Given the description of an element on the screen output the (x, y) to click on. 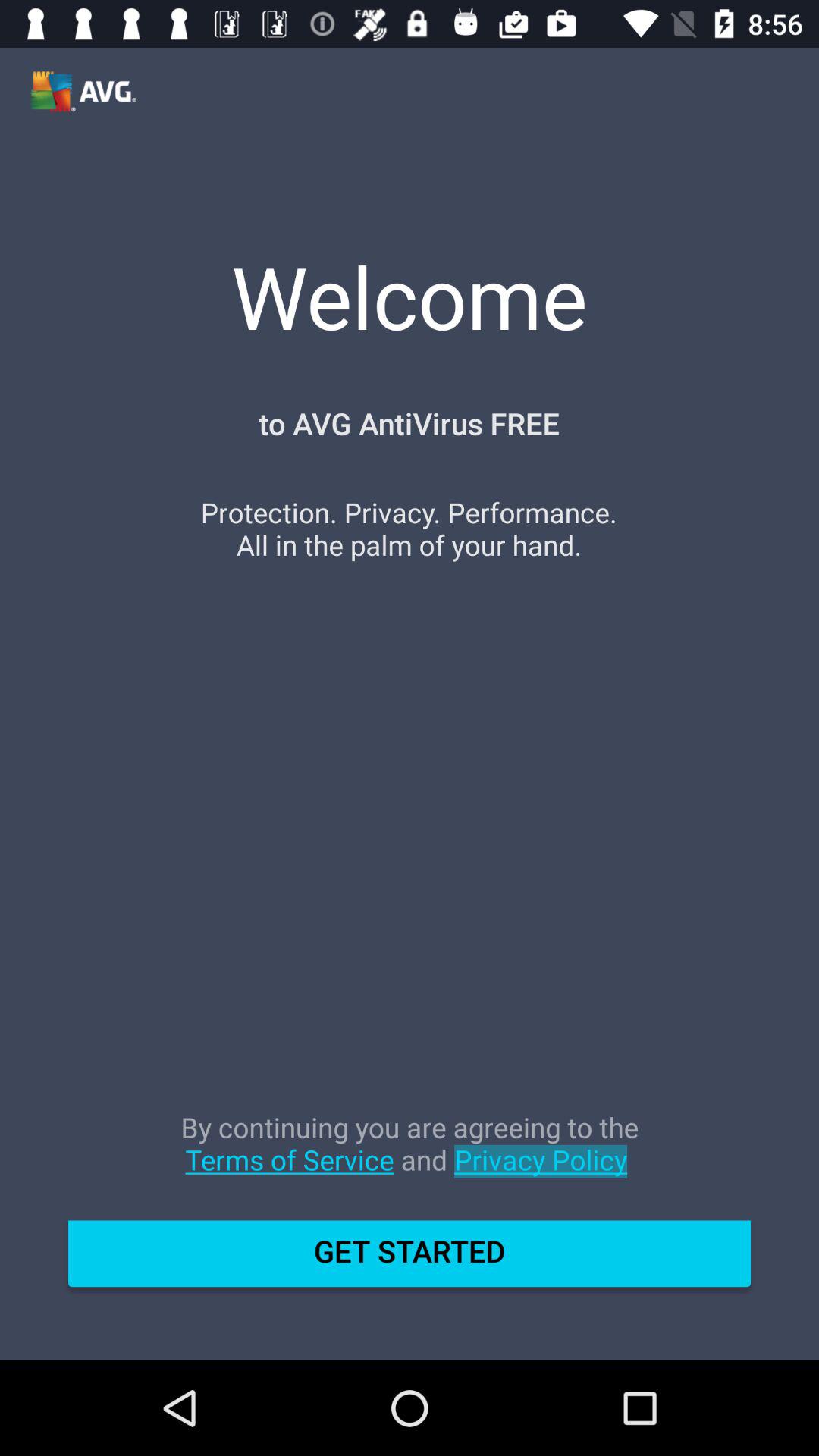
launch get started (409, 1259)
